Given the description of an element on the screen output the (x, y) to click on. 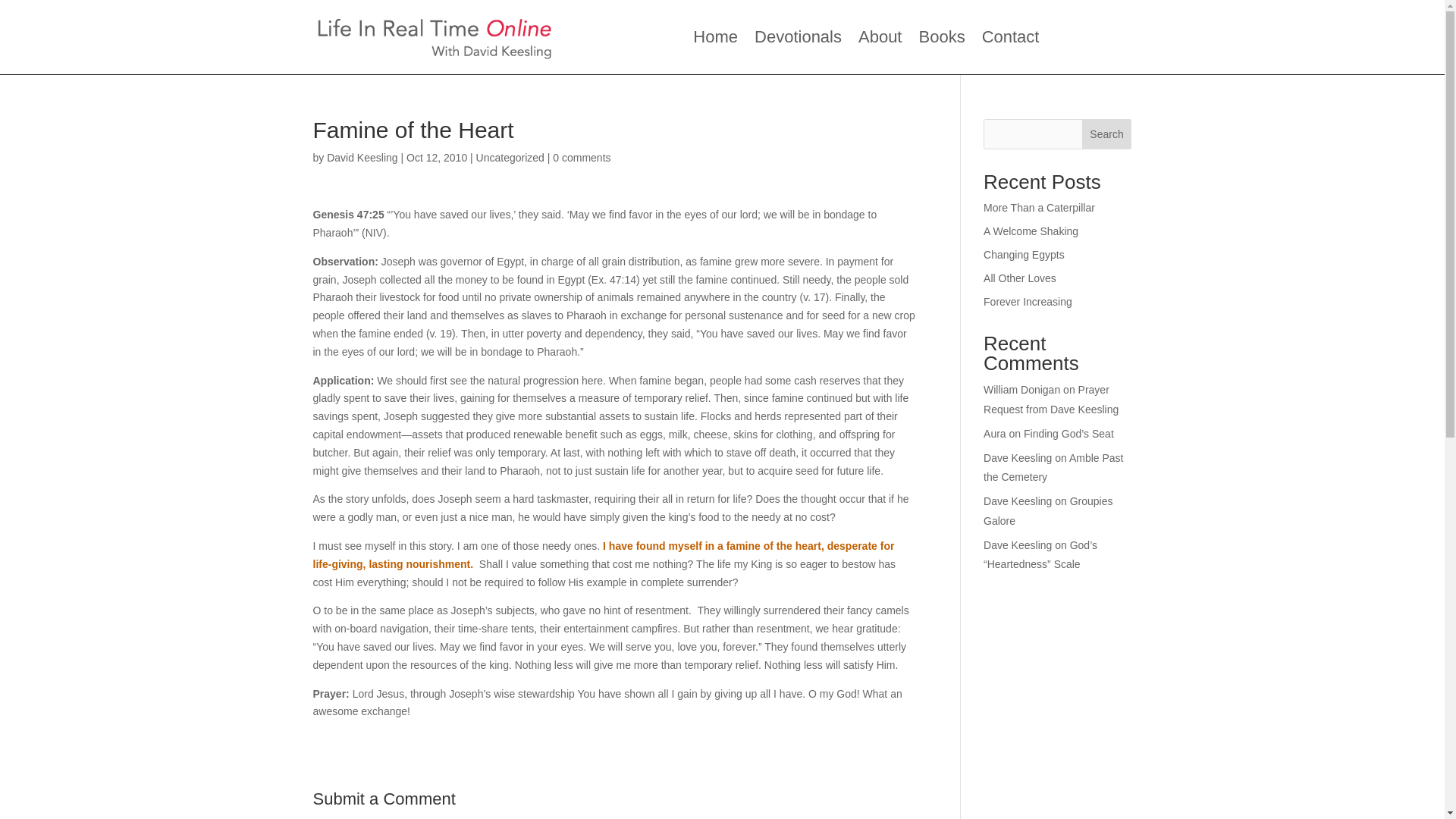
0 comments (581, 157)
Amble Past the Cemetery (1053, 467)
Uncategorized (510, 157)
More Than a Caterpillar (1039, 207)
Aura (995, 433)
Dave Keesling (1017, 458)
Changing Egypts (1024, 254)
Prayer Request from Dave Keesling (1051, 399)
Posts by David Keesling (361, 157)
Devotionals (797, 39)
